Given the description of an element on the screen output the (x, y) to click on. 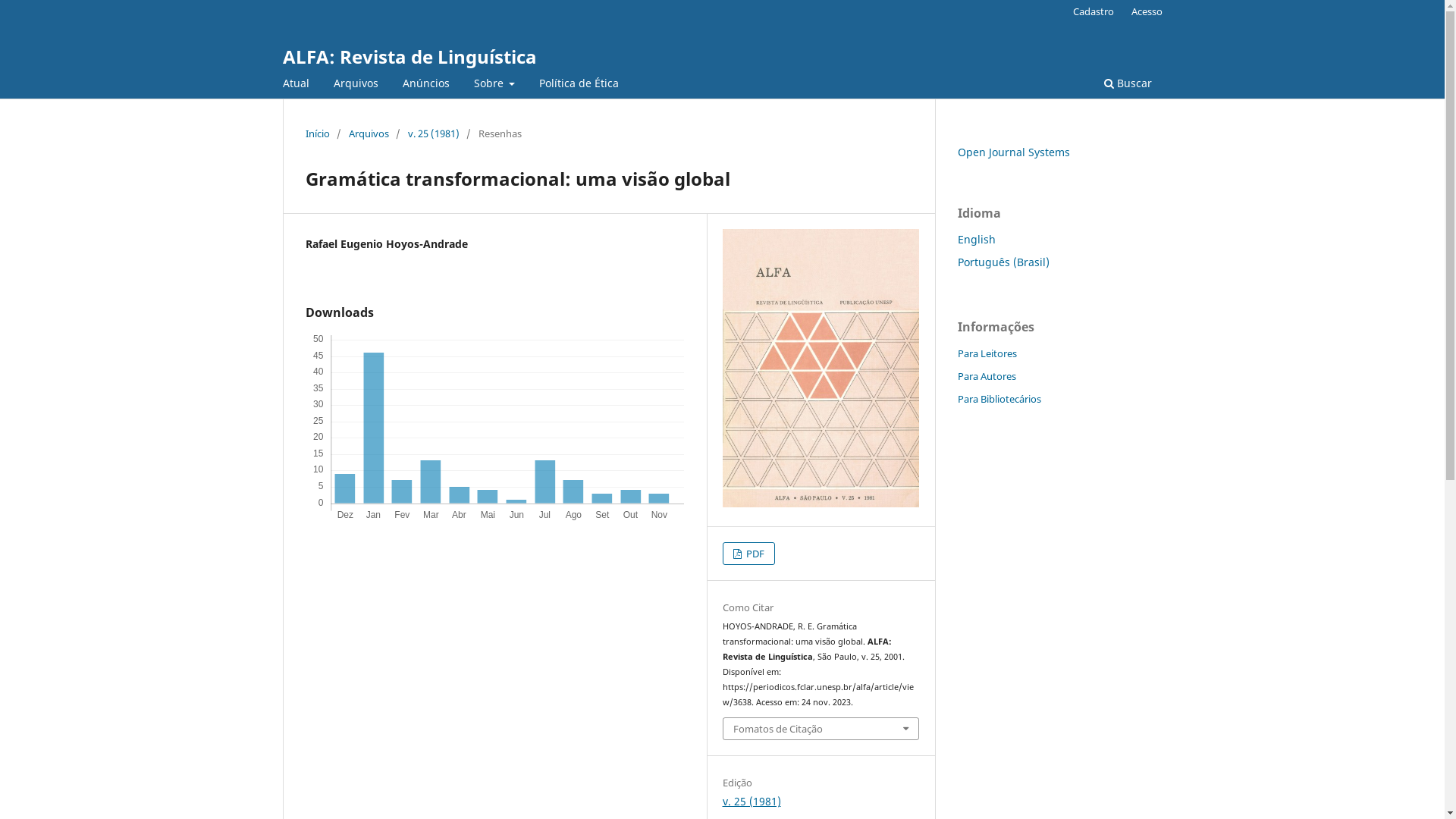
v. 25 (1981) Element type: text (433, 133)
Sobre Element type: text (494, 85)
Arquivos Element type: text (368, 133)
Buscar Element type: text (1127, 85)
Atual Element type: text (295, 85)
v. 25 (1981) Element type: text (751, 800)
Para Leitores Element type: text (986, 353)
Para Autores Element type: text (986, 375)
English Element type: text (975, 239)
PDF Element type: text (748, 553)
Arquivos Element type: text (354, 85)
Acesso Element type: text (1146, 11)
Cadastro Element type: text (1093, 11)
Open Journal Systems Element type: text (1013, 151)
